Given the description of an element on the screen output the (x, y) to click on. 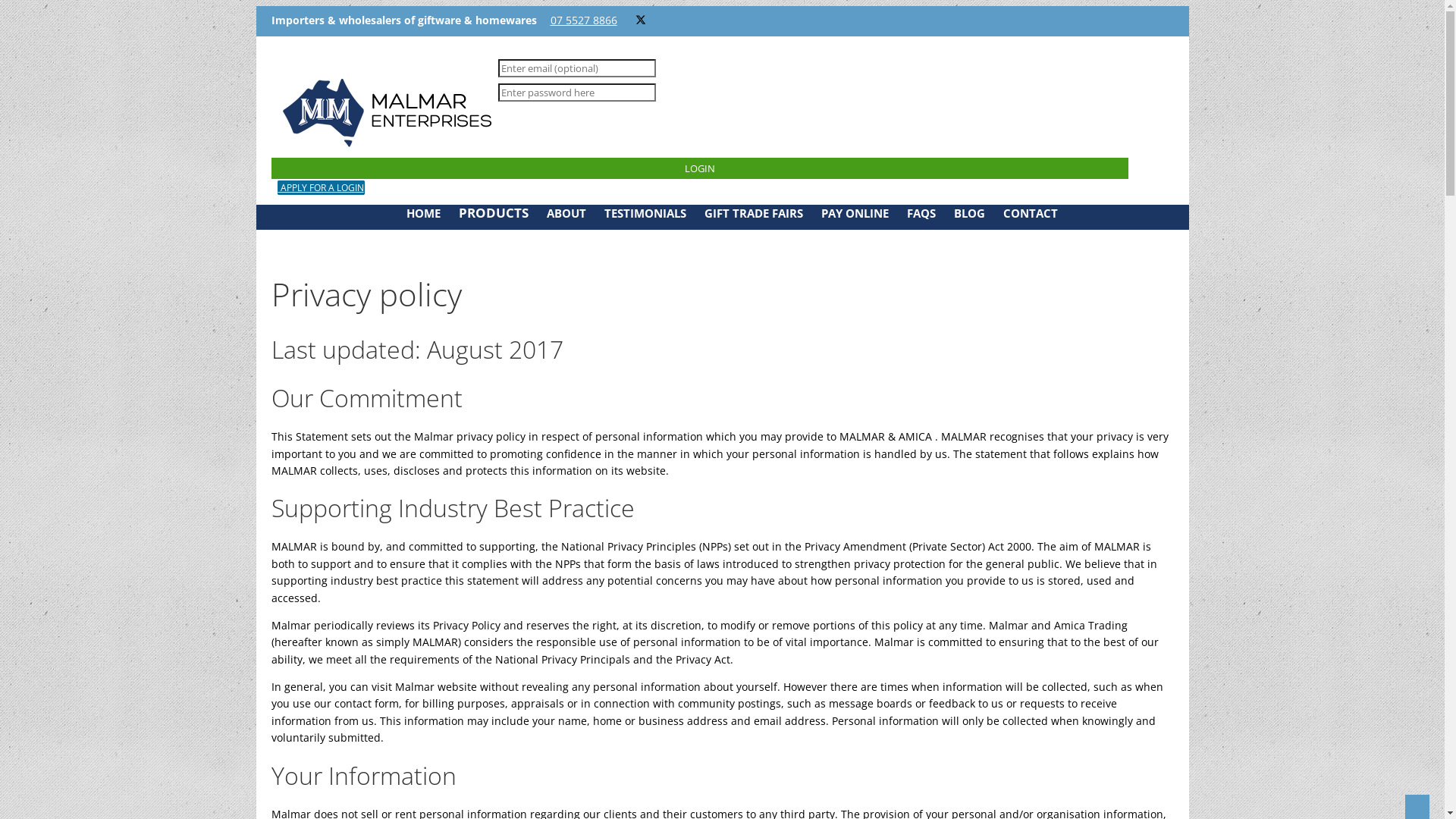
Enter email to be able to retrieve cart later. Element type: hover (576, 68)
ABOUT Element type: text (565, 213)
FAQS Element type: text (920, 213)
PRODUCTS Element type: text (492, 212)
BLOG Element type: text (969, 213)
PAY ONLINE Element type: text (854, 213)
Twitter Element type: hover (640, 19)
CONTACT Element type: text (1029, 213)
HOME Element type: text (423, 213)
TESTIMONIALS Element type: text (644, 213)
07 5527 8866 Element type: text (583, 19)
GIFT TRADE FAIRS Element type: text (752, 213)
Login Element type: text (700, 167)
APPLY FOR A LOGIN Element type: text (320, 187)
